Given the description of an element on the screen output the (x, y) to click on. 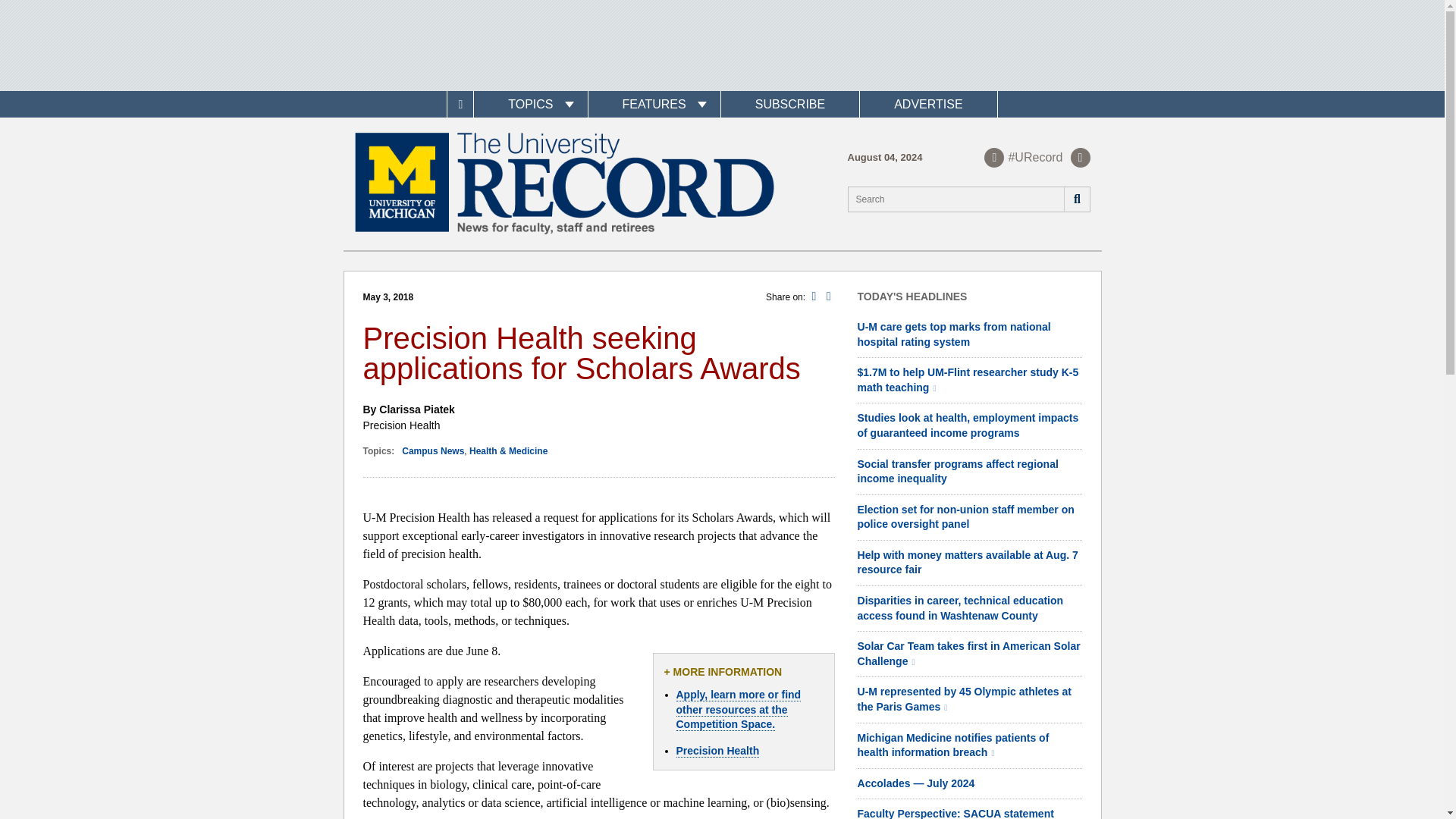
Search for: (968, 199)
ADVERTISE (927, 103)
The University Record (564, 183)
TOPICS (530, 103)
Campus News (432, 450)
RSS (1080, 156)
FEATURES (654, 103)
SUBSCRIBE (789, 103)
Search (1075, 198)
HOME (459, 103)
RSS Feed (1080, 156)
